Given the description of an element on the screen output the (x, y) to click on. 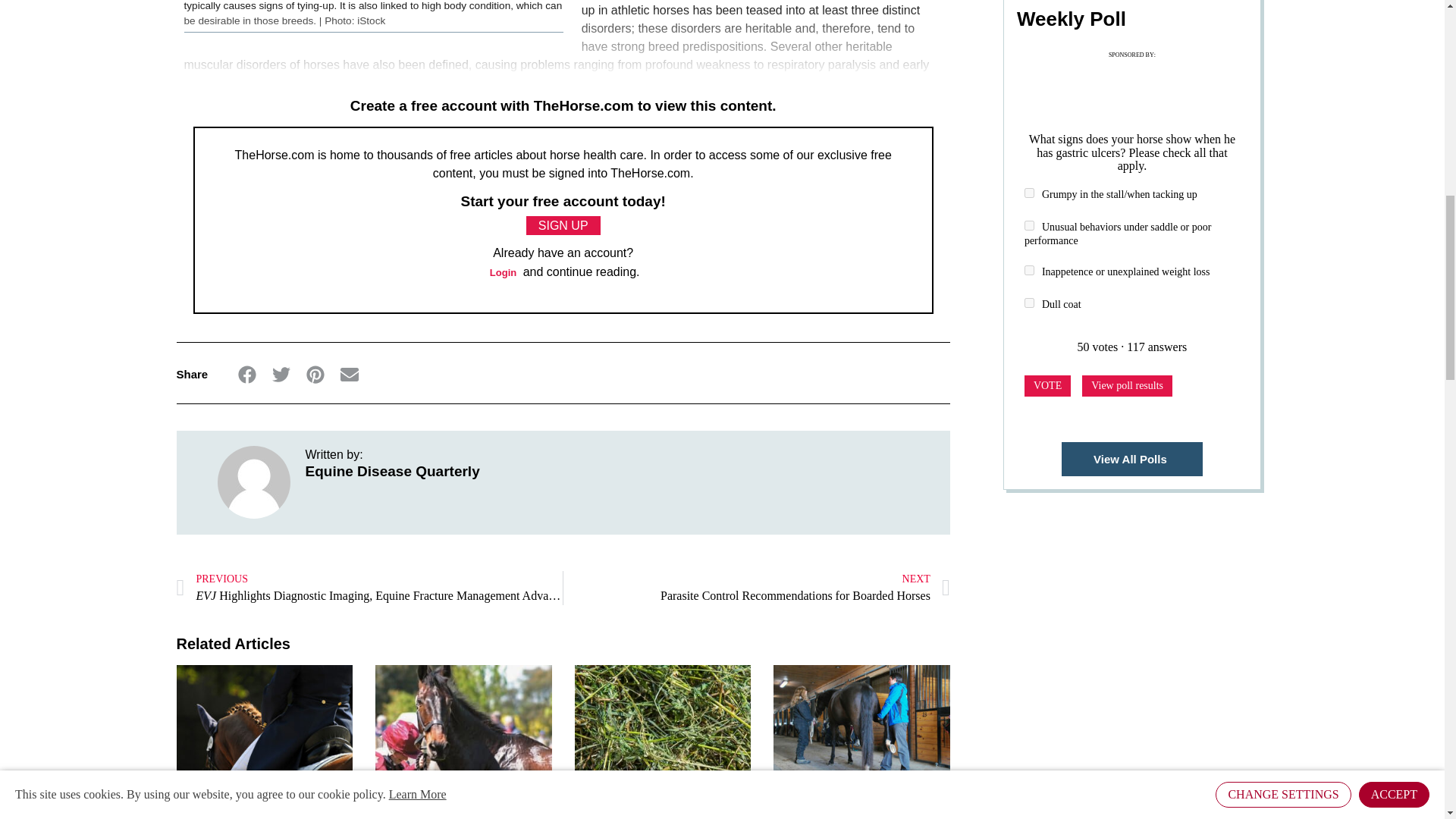
44632 (1029, 270)
3rd party ad content (1137, 79)
44492 (1029, 225)
44365 (1029, 193)
44633 (1029, 302)
